Given the description of an element on the screen output the (x, y) to click on. 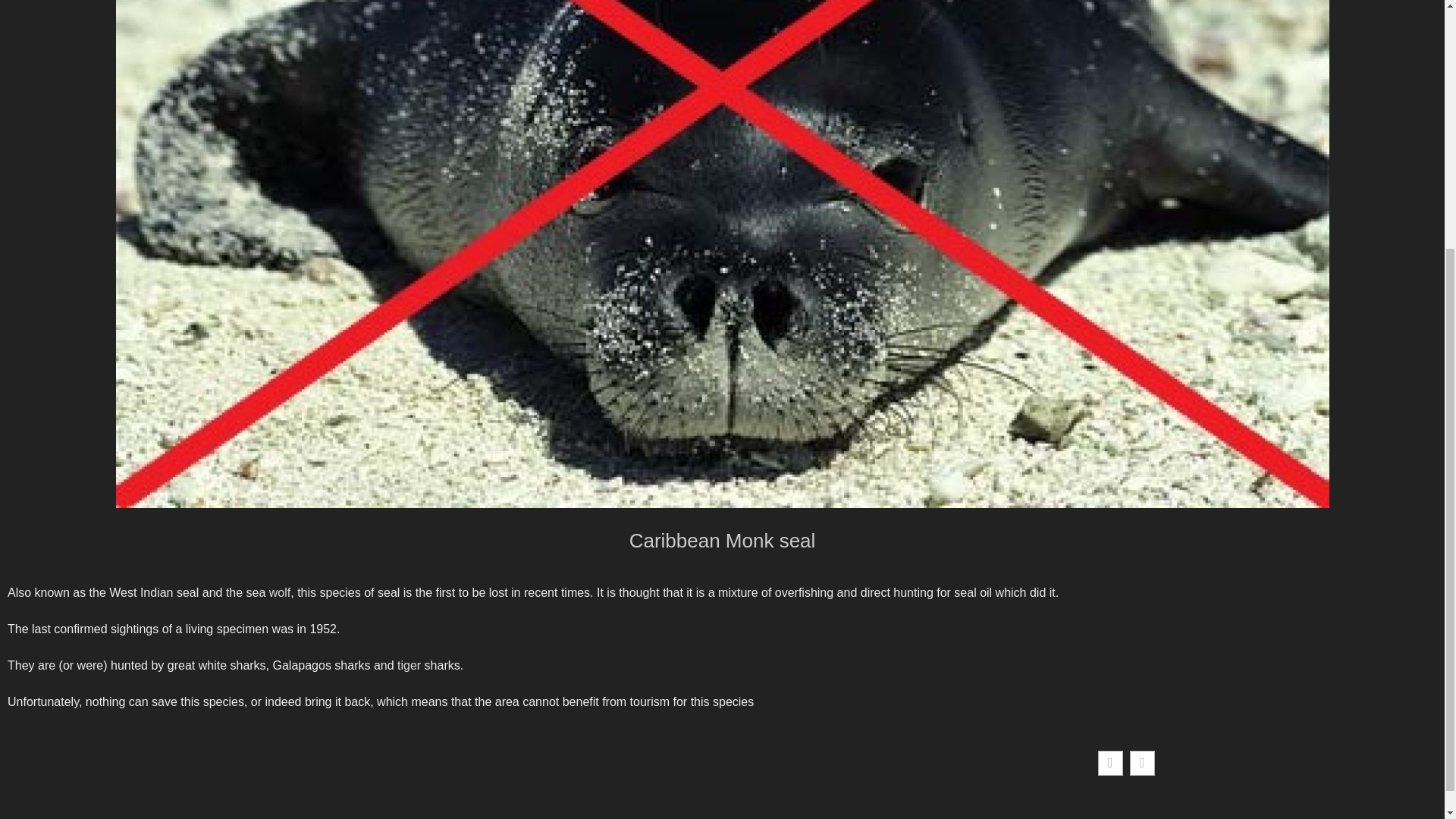
Tiger (408, 665)
Wolf (279, 592)
wolf (279, 592)
tiger (408, 665)
